Given the description of an element on the screen output the (x, y) to click on. 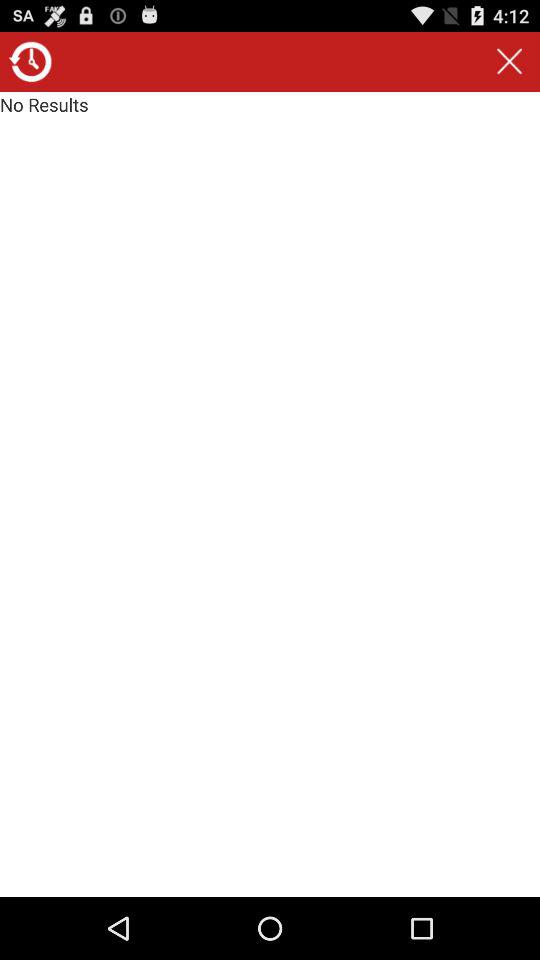
close screen (509, 61)
